Given the description of an element on the screen output the (x, y) to click on. 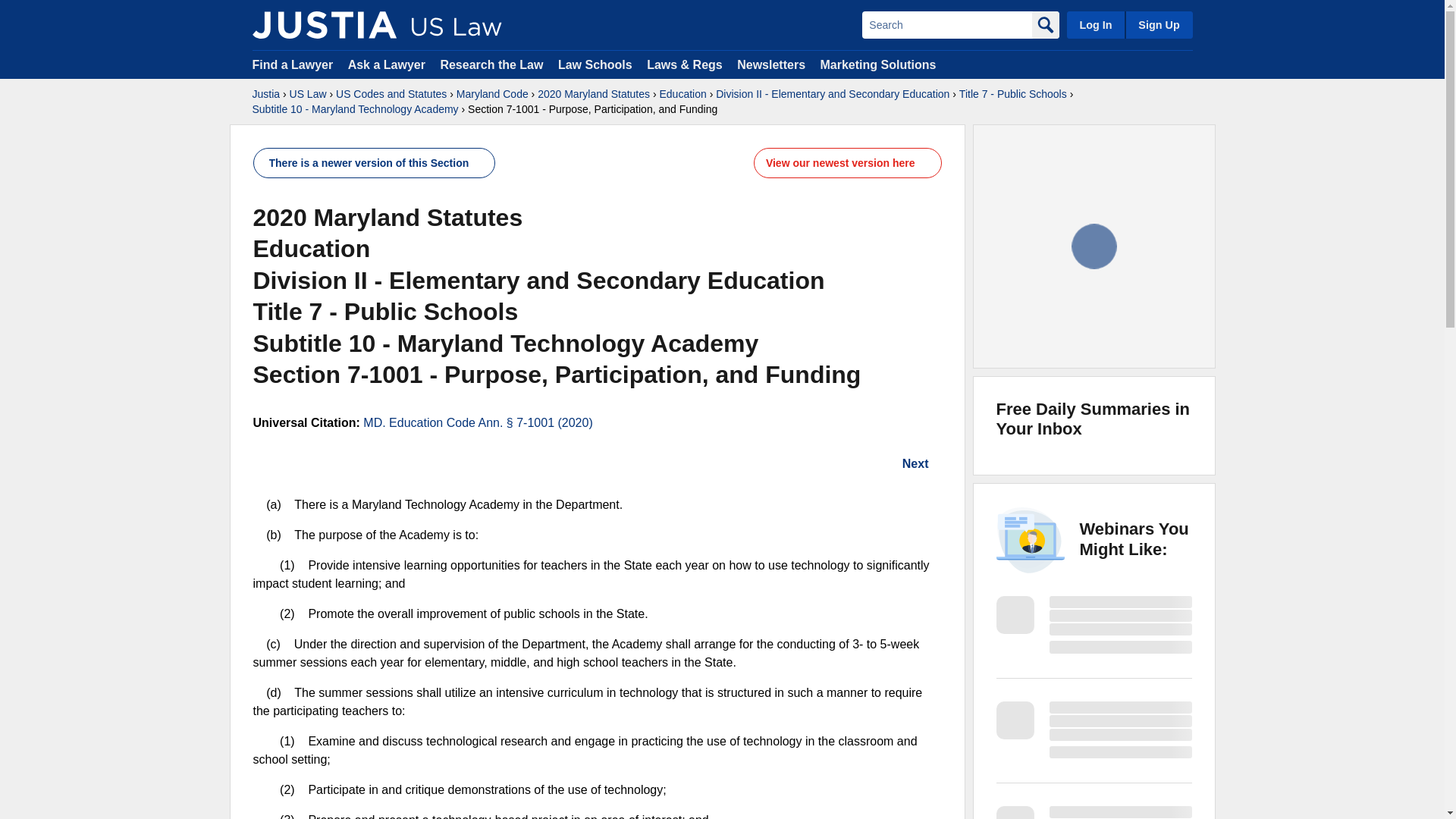
US Law (307, 93)
Title 7 - Public Schools (1013, 93)
US Codes and Statutes (391, 93)
Maryland Code (492, 93)
Justia (265, 93)
Marketing Solutions (877, 64)
down (926, 162)
Law Schools (594, 64)
Education (682, 93)
Ask a Lawyer (388, 64)
2020 Maryland Statutes (593, 93)
Newsletters (770, 64)
Find a Lawyer (292, 64)
Research the Law (491, 64)
Search (945, 24)
